Given the description of an element on the screen output the (x, y) to click on. 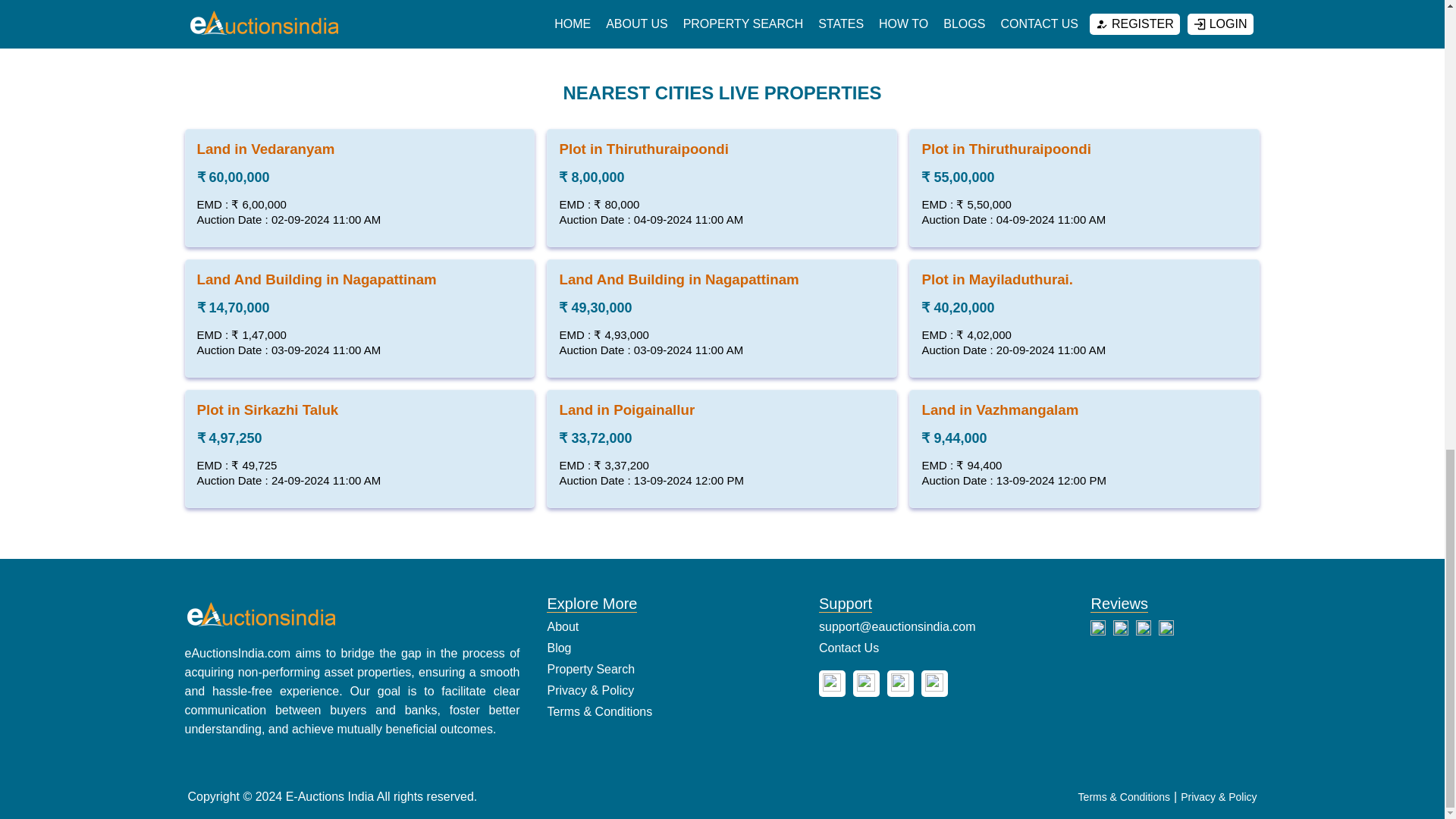
Land And Building in Nagapattinam (316, 279)
Plot in Thiruthuraipoondi (643, 148)
Plot in Sirkazhi Taluk (267, 409)
eAuctions India (260, 614)
Land in Vedaranyam (265, 148)
Land in Poigainallur (626, 409)
Land And Building in Nagapattinam (678, 279)
Plot in Mayiladuthurai. (997, 279)
Land in Vazhmangalam (999, 409)
Plot in Thiruthuraipoondi (1005, 148)
